Given the description of an element on the screen output the (x, y) to click on. 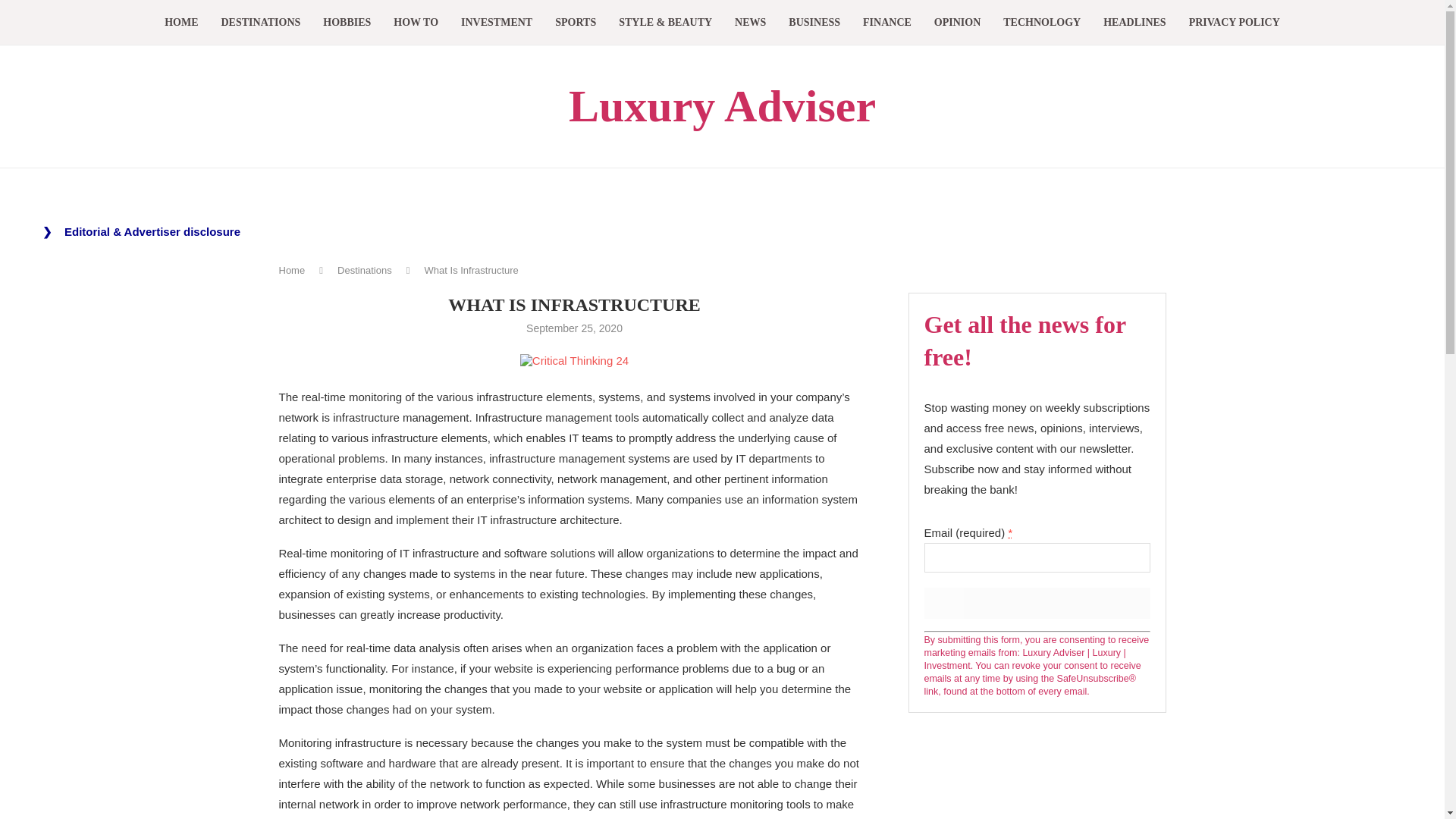
FINANCE (887, 22)
HOW TO (415, 22)
HOBBIES (347, 22)
DESTINATIONS (261, 22)
PRIVACY POLICY (1234, 22)
Sign up! (1036, 603)
SPORTS (574, 22)
Home (292, 270)
TECHNOLOGY (1041, 22)
OPINION (956, 22)
HEADLINES (1134, 22)
BUSINESS (814, 22)
Luxury Adviser (722, 106)
Critical Thinking 24 (573, 359)
INVESTMENT (496, 22)
